Given the description of an element on the screen output the (x, y) to click on. 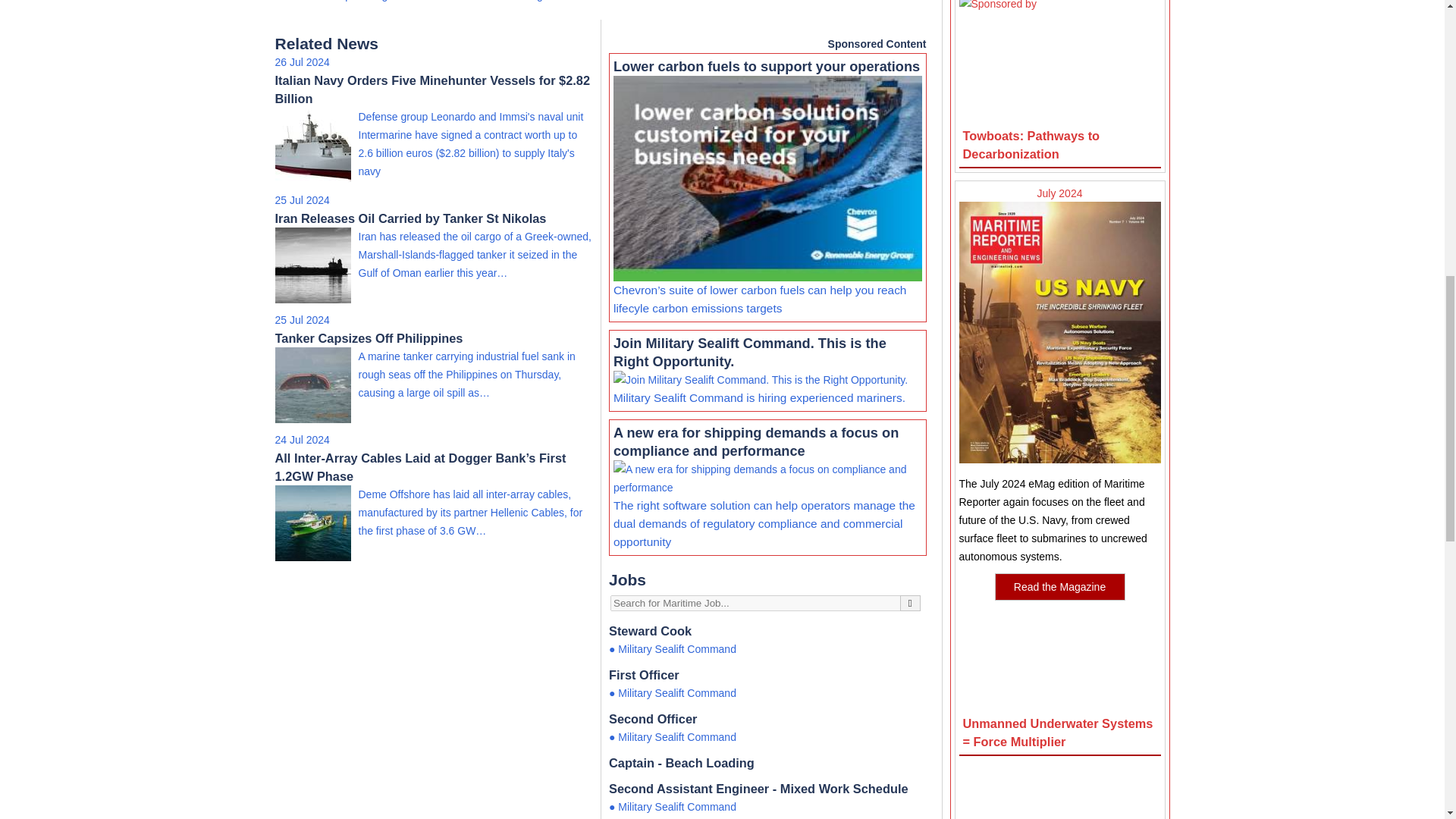
Shipbuilding (358, 0)
Great Lakes (486, 0)
Captain - Beach Loading (767, 762)
Tugs (536, 0)
Contracts (297, 0)
Workboats (422, 0)
